Given the description of an element on the screen output the (x, y) to click on. 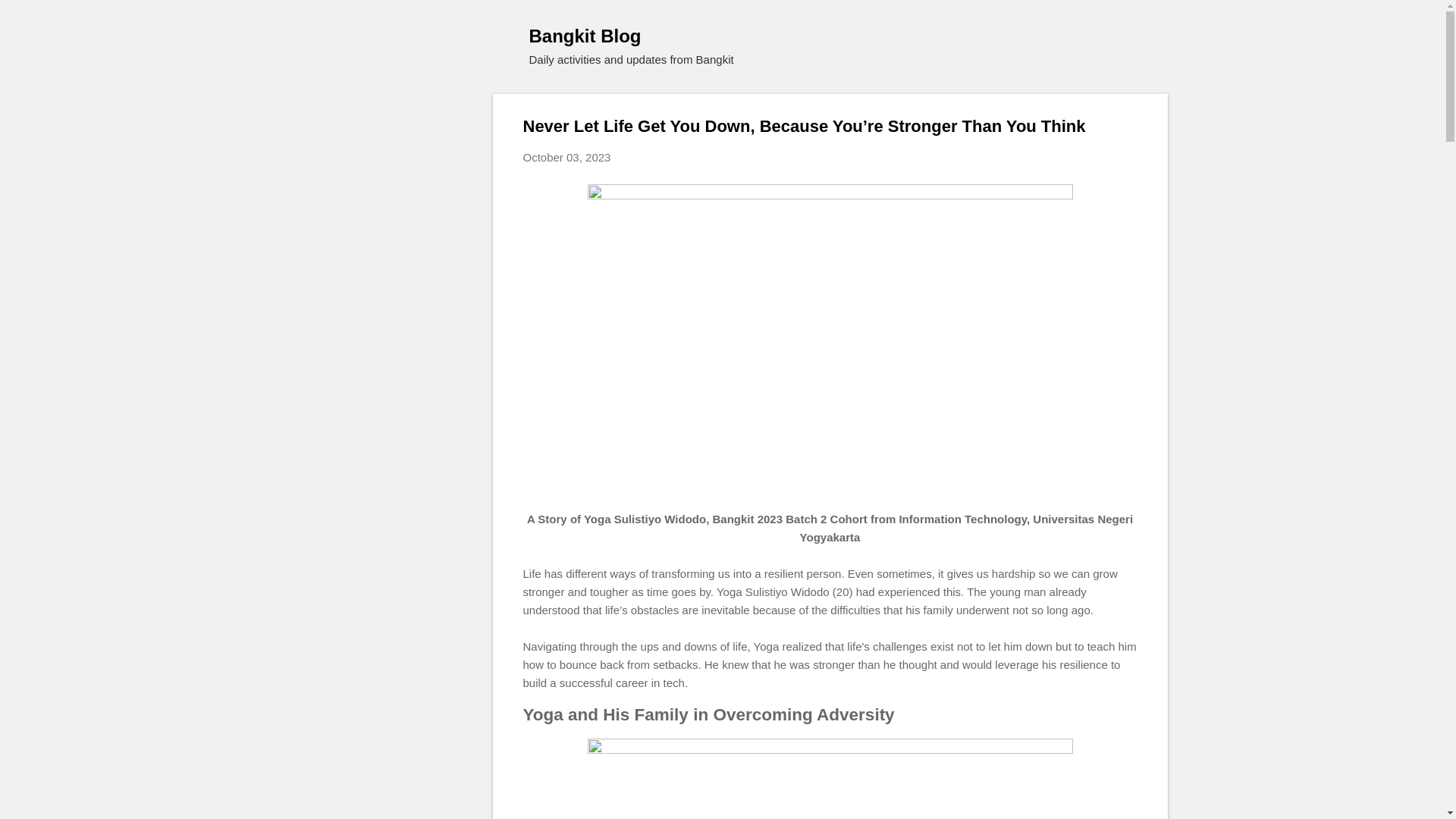
Bangkit Blog (585, 35)
permanent link (566, 156)
October 03, 2023 (566, 156)
